Given the description of an element on the screen output the (x, y) to click on. 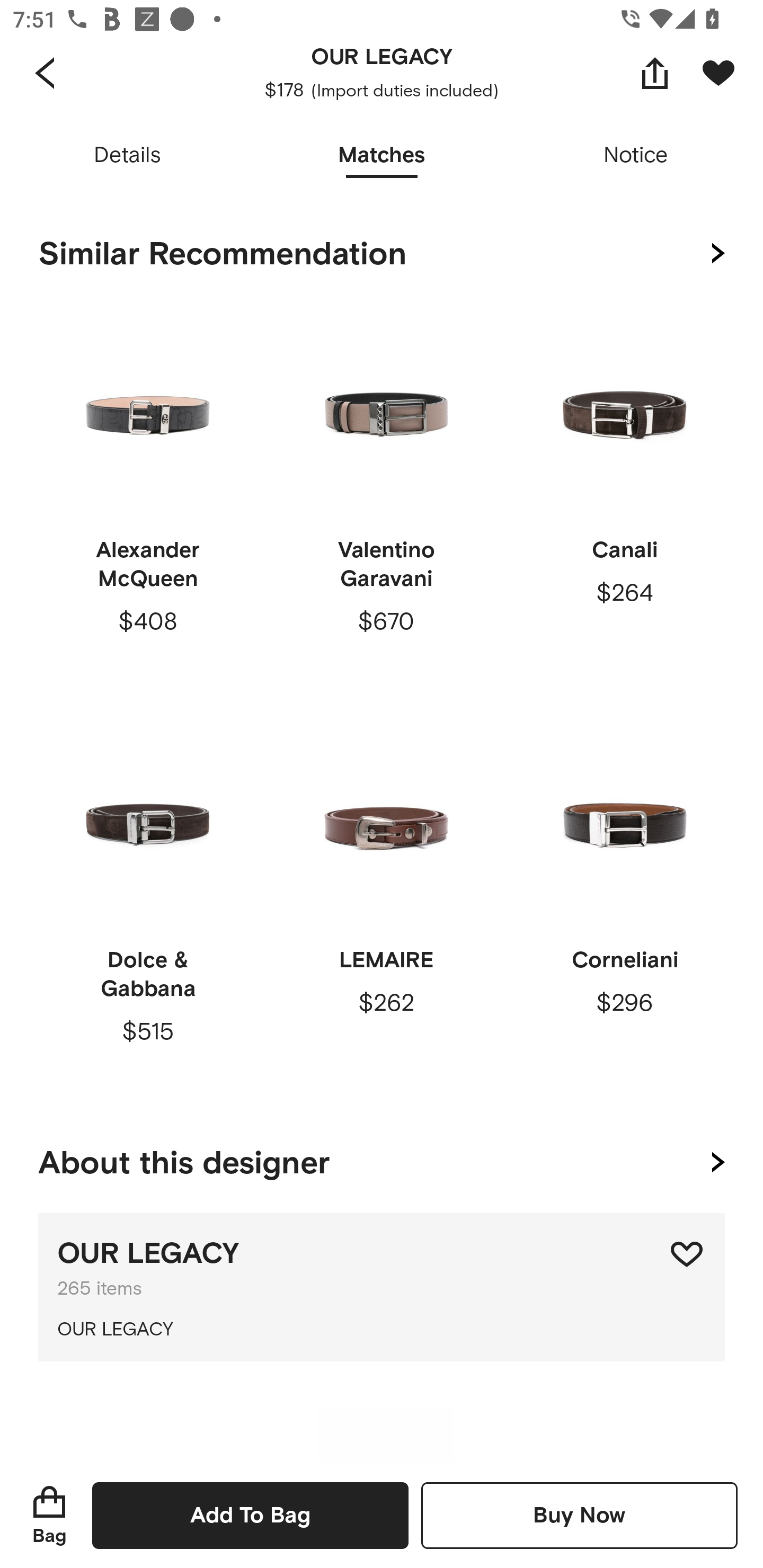
Details (127, 155)
Notice (635, 155)
Similar Recommendation (381, 253)
Alexander McQueen $408 (147, 499)
Valentino Garavani $670 (385, 499)
Canali $264 (624, 499)
Dolce & Gabbana $515 (147, 909)
LEMAIRE $262 (385, 909)
Corneliani $296 (624, 909)
About this designer (381, 1159)
OUR LEGACY 265 items OUR LEGACY (381, 1287)
OUR LEGACY (381, 1329)
Bag (49, 1515)
Add To Bag (250, 1515)
Buy Now (579, 1515)
